Given the description of an element on the screen output the (x, y) to click on. 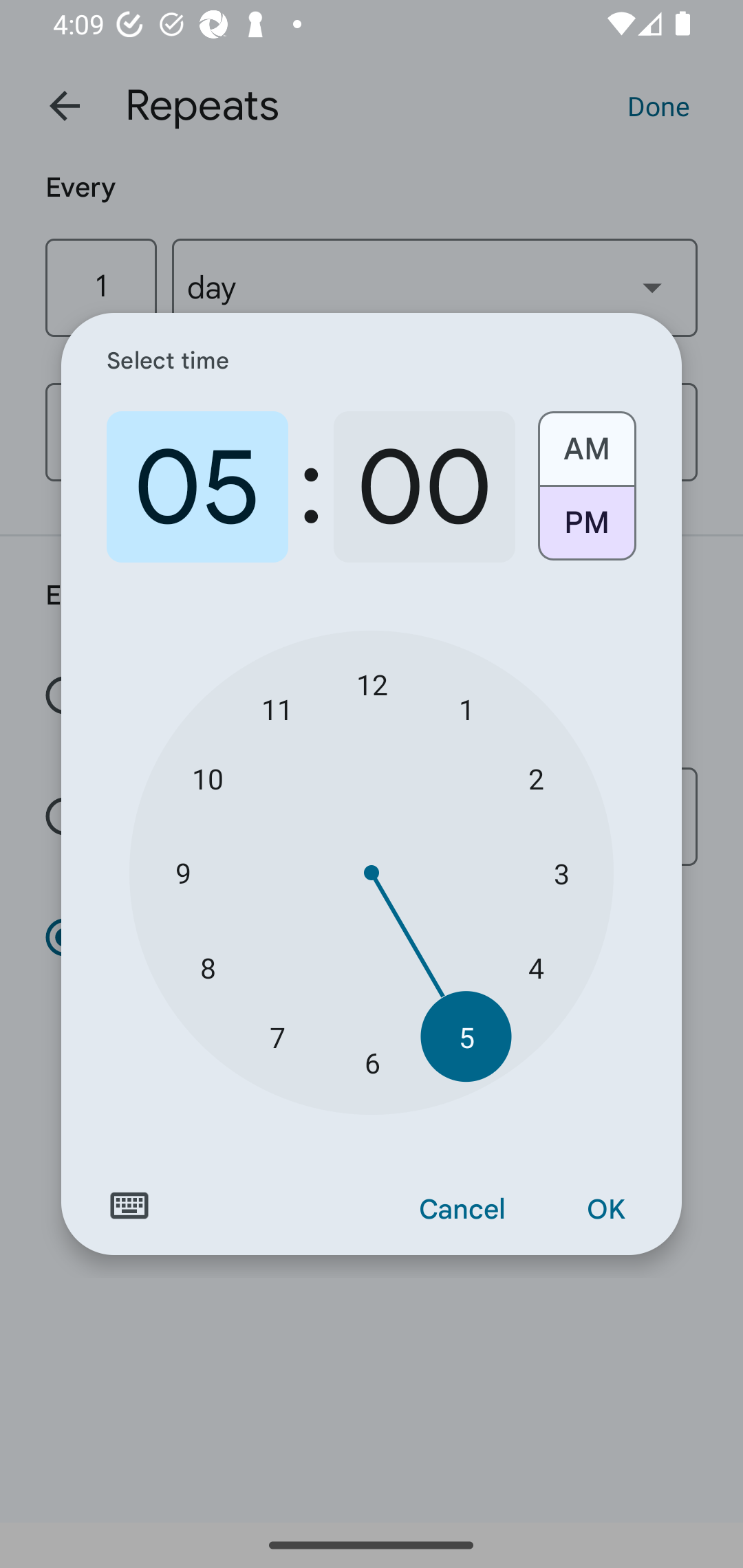
AM (586, 441)
05 5 o'clock (197, 486)
00 0 minutes (424, 486)
PM (586, 529)
12 12 o'clock (371, 683)
11 11 o'clock (276, 708)
1 1 o'clock (466, 708)
10 10 o'clock (207, 778)
2 2 o'clock (535, 778)
9 9 o'clock (182, 872)
3 3 o'clock (561, 872)
8 8 o'clock (207, 966)
4 4 o'clock (535, 966)
7 7 o'clock (276, 1035)
5 5 o'clock (466, 1035)
6 6 o'clock (371, 1062)
Switch to text input mode for the time input. (128, 1205)
Cancel (462, 1209)
OK (605, 1209)
